Given the description of an element on the screen output the (x, y) to click on. 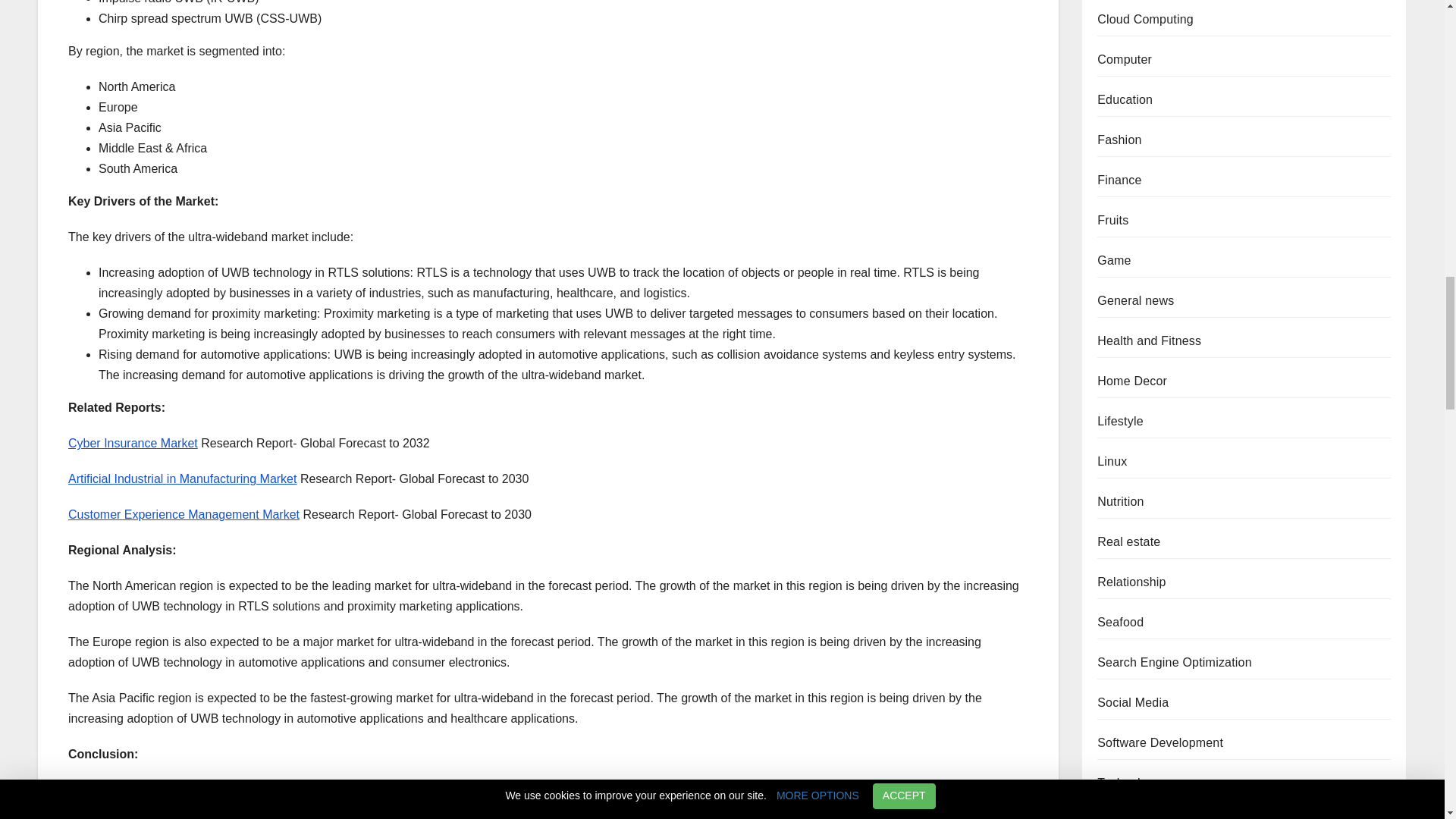
Cyber Insurance Market (133, 442)
Customer Experience Management Market (183, 513)
Artificial Industrial in Manufacturing Market (182, 478)
